Given the description of an element on the screen output the (x, y) to click on. 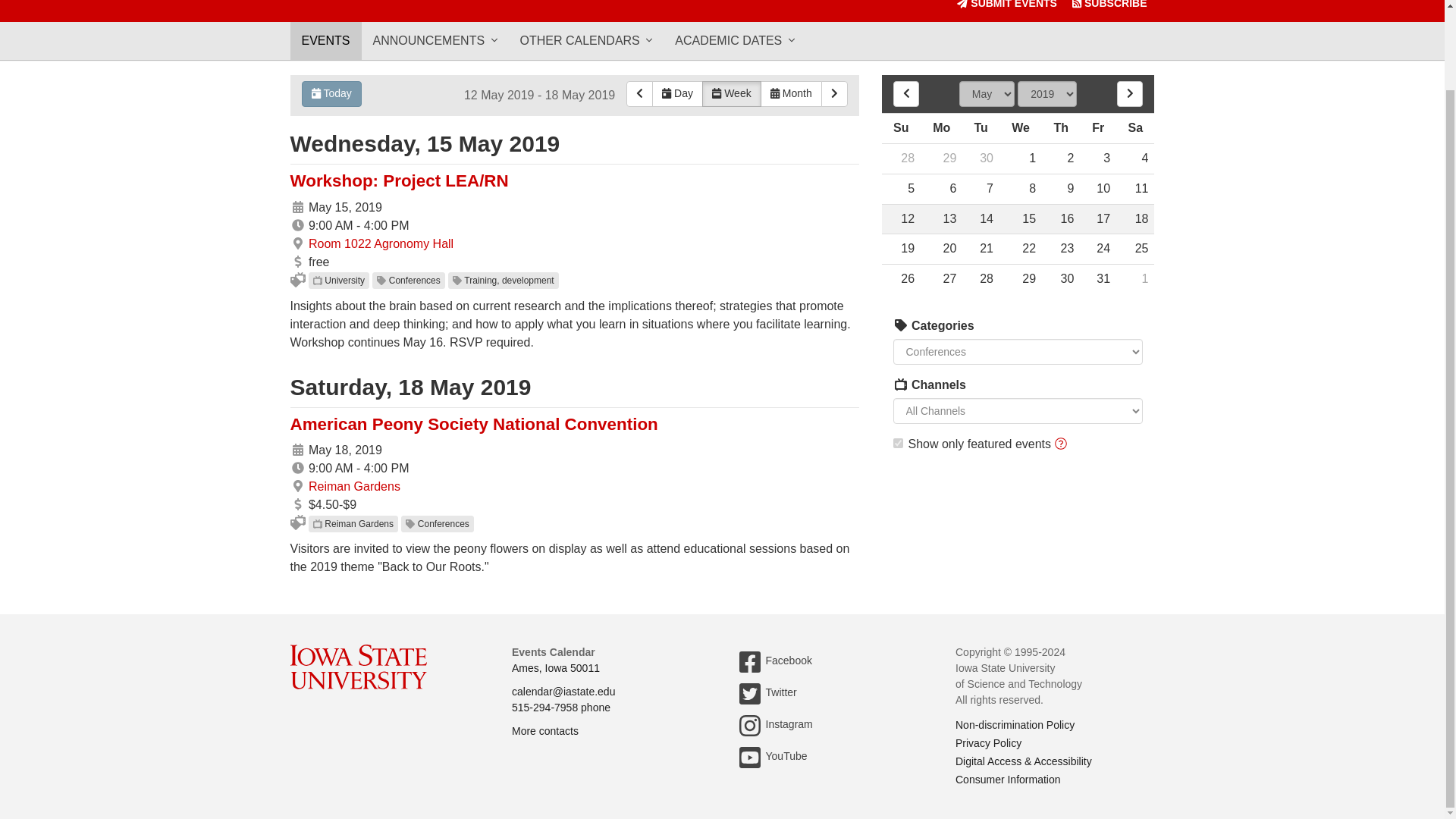
EVENTS (325, 40)
Categories (900, 384)
Time (296, 224)
Channel (317, 280)
Time (296, 467)
SUBMIT EVENTS (1006, 11)
Categories (900, 384)
Categories (900, 325)
Cost (296, 503)
Location (296, 243)
Location (296, 485)
SUBSCRIBE (1109, 11)
Date (296, 206)
Time (296, 224)
Date (296, 206)
